Given the description of an element on the screen output the (x, y) to click on. 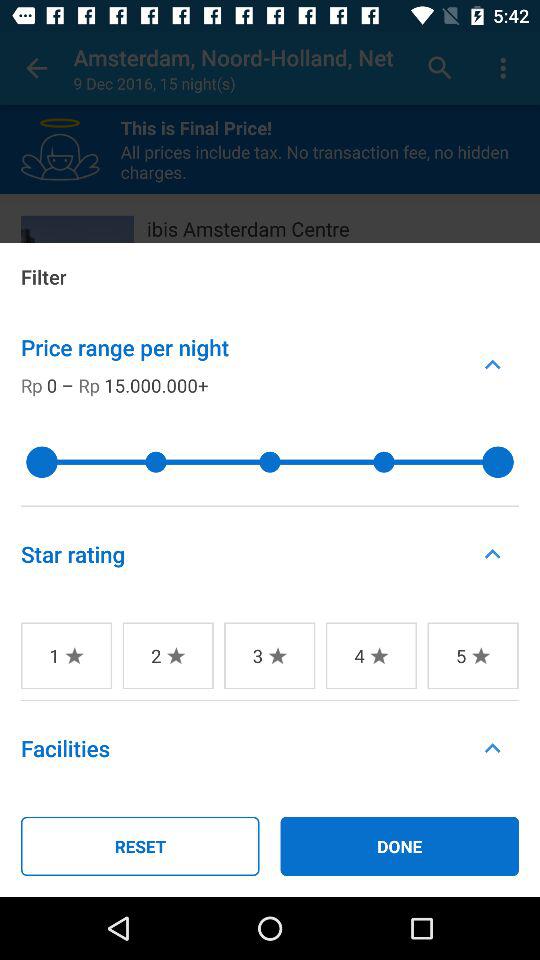
turn off reset icon (140, 846)
